Given the description of an element on the screen output the (x, y) to click on. 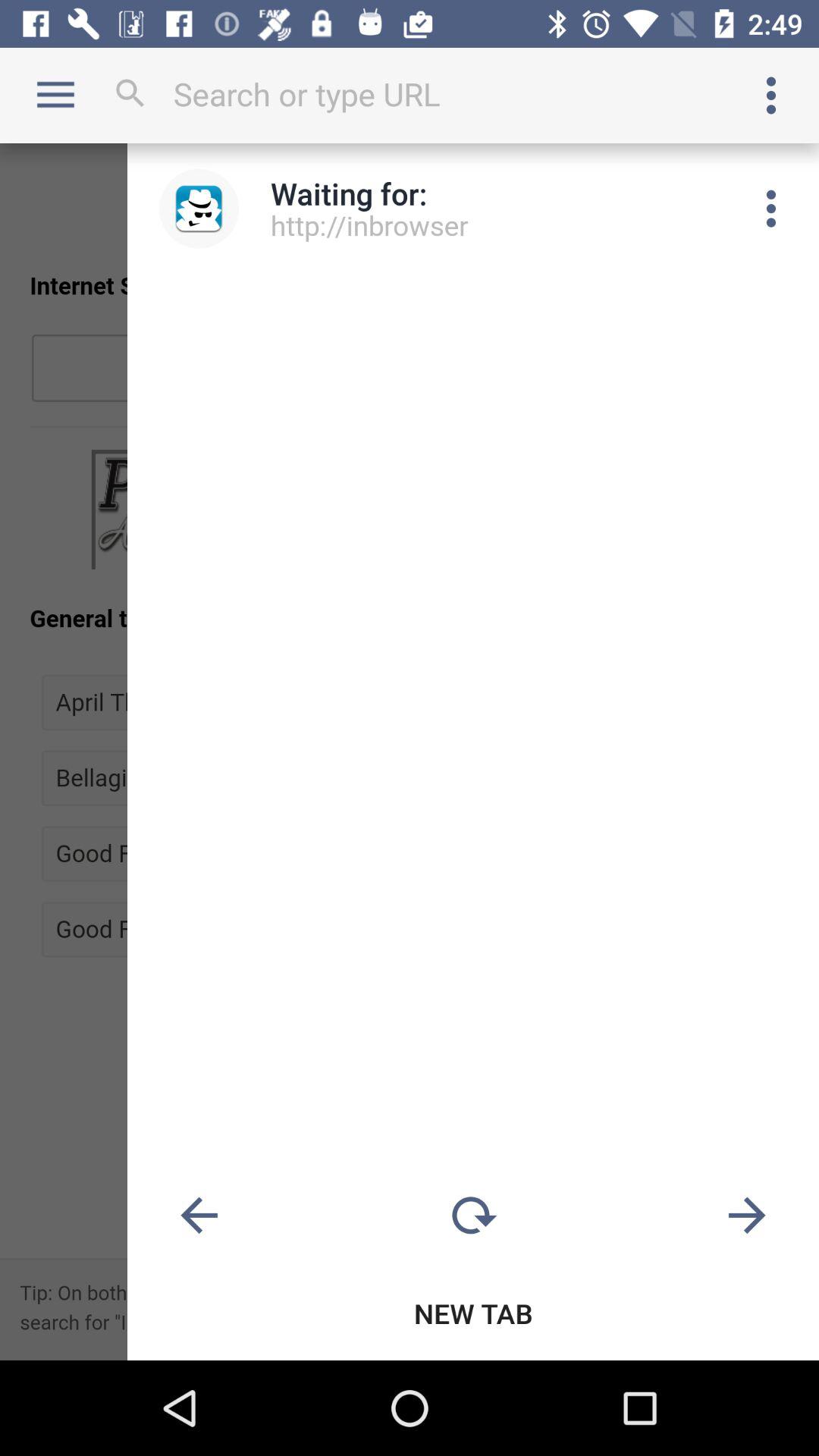
go front (747, 1216)
